Given the description of an element on the screen output the (x, y) to click on. 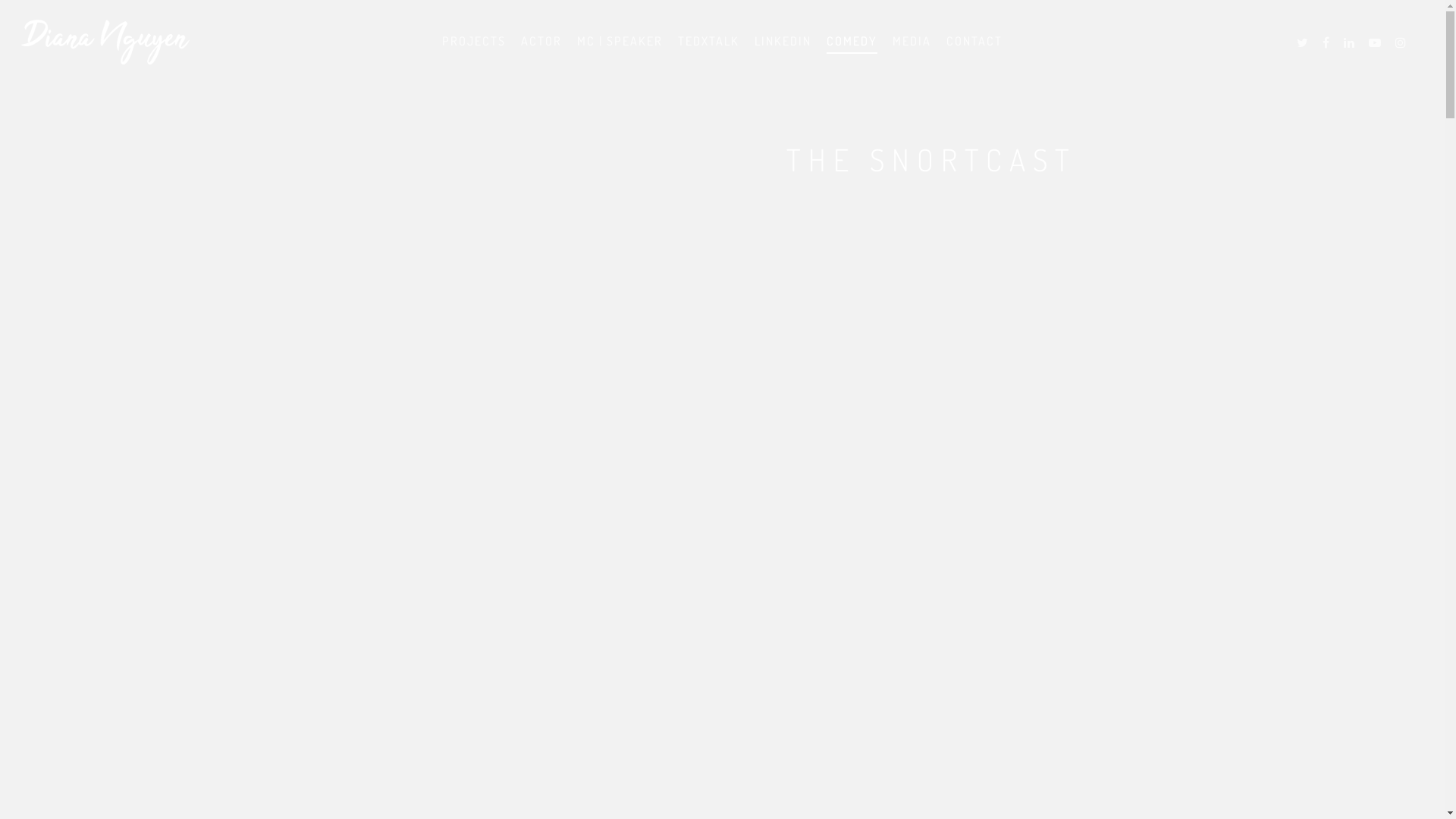
LINKEDIN Element type: text (782, 49)
TEDXTALK Element type: text (708, 49)
COMEDY Element type: text (851, 49)
CONTACT Element type: text (974, 49)
PROJECTS Element type: text (473, 49)
MC | SPEAKER Element type: text (619, 49)
ACTOR Element type: text (540, 49)
MEDIA Element type: text (911, 49)
